Given the description of an element on the screen output the (x, y) to click on. 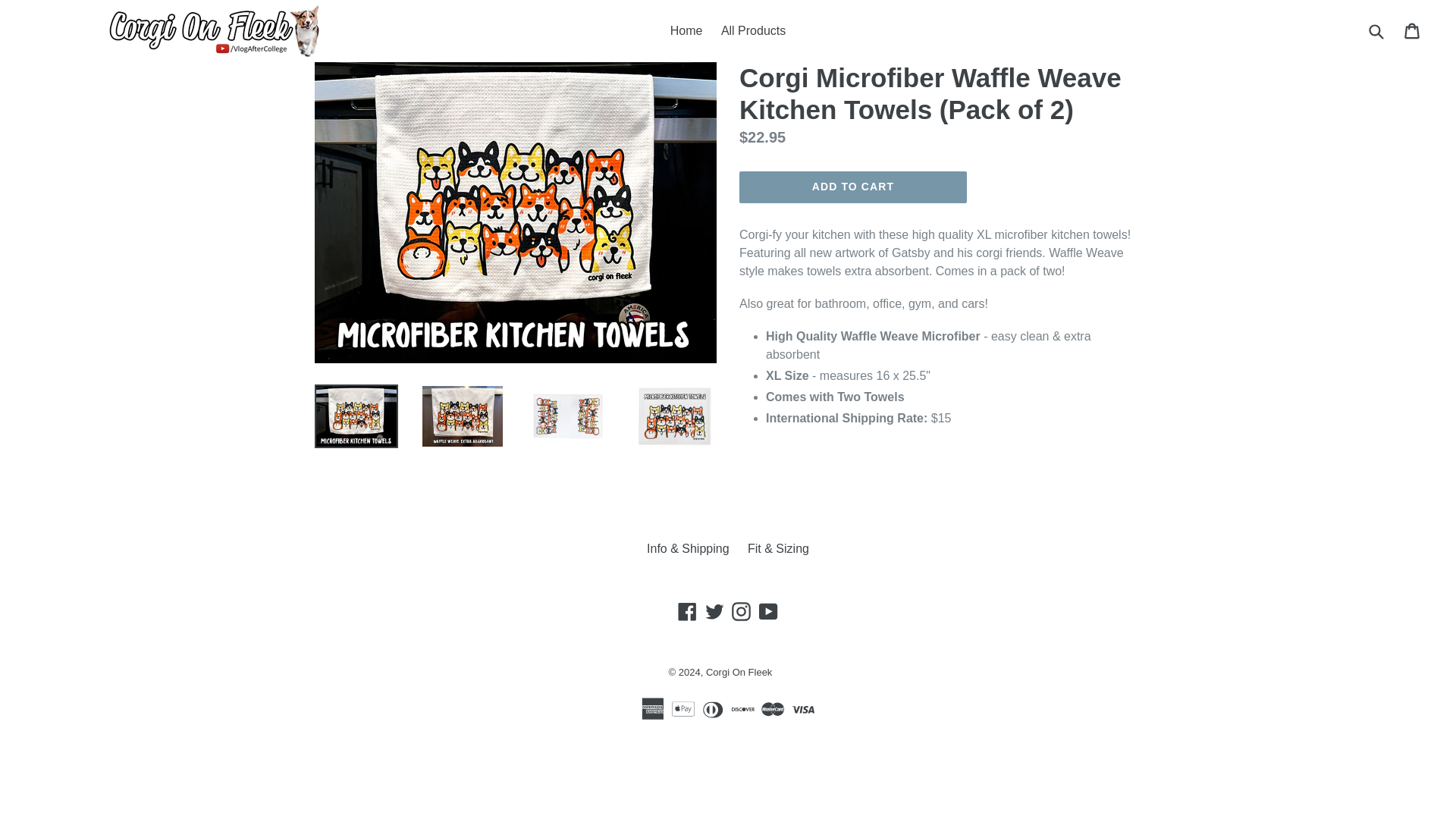
Home (686, 30)
Corgi On Fleek on Instagram (740, 610)
Corgi On Fleek on Facebook (686, 610)
Corgi On Fleek on YouTube (768, 610)
Facebook (686, 610)
ADD TO CART (852, 187)
Corgi On Fleek on Twitter (714, 610)
Twitter (714, 610)
Instagram (740, 610)
Corgi On Fleek (738, 672)
